Given the description of an element on the screen output the (x, y) to click on. 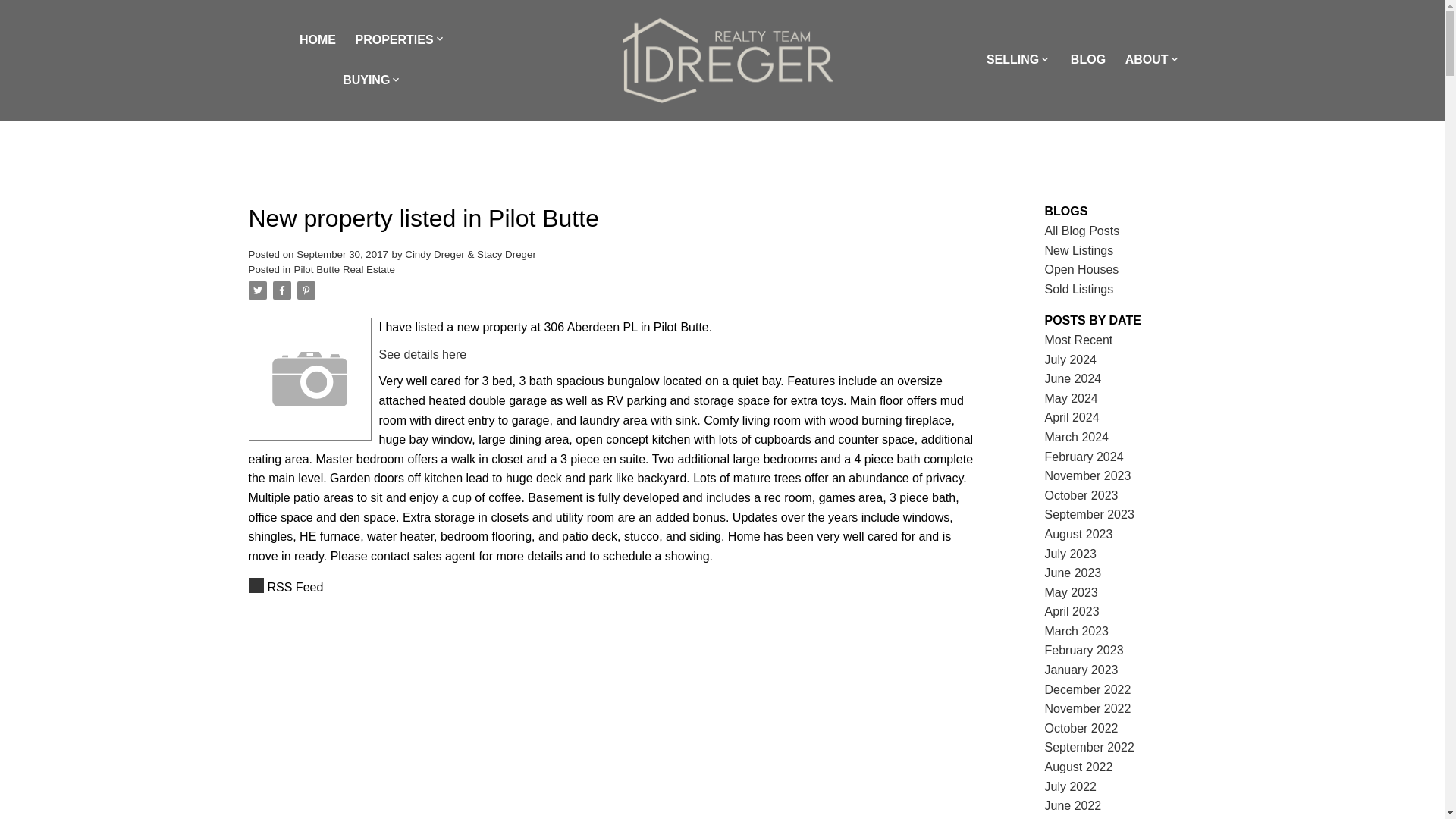
New Listings (1079, 250)
BLOG (1087, 60)
September 2023 (1089, 513)
June 2024 (1073, 378)
Pilot Butte Real Estate (344, 269)
October 2023 (1081, 495)
July 2024 (1071, 359)
July 2023 (1071, 553)
May 2024 (1071, 398)
August 2023 (1079, 533)
Open Houses (1082, 269)
HOME (317, 40)
February 2024 (1084, 456)
Sold Listings (1079, 288)
November 2023 (1088, 475)
